Given the description of an element on the screen output the (x, y) to click on. 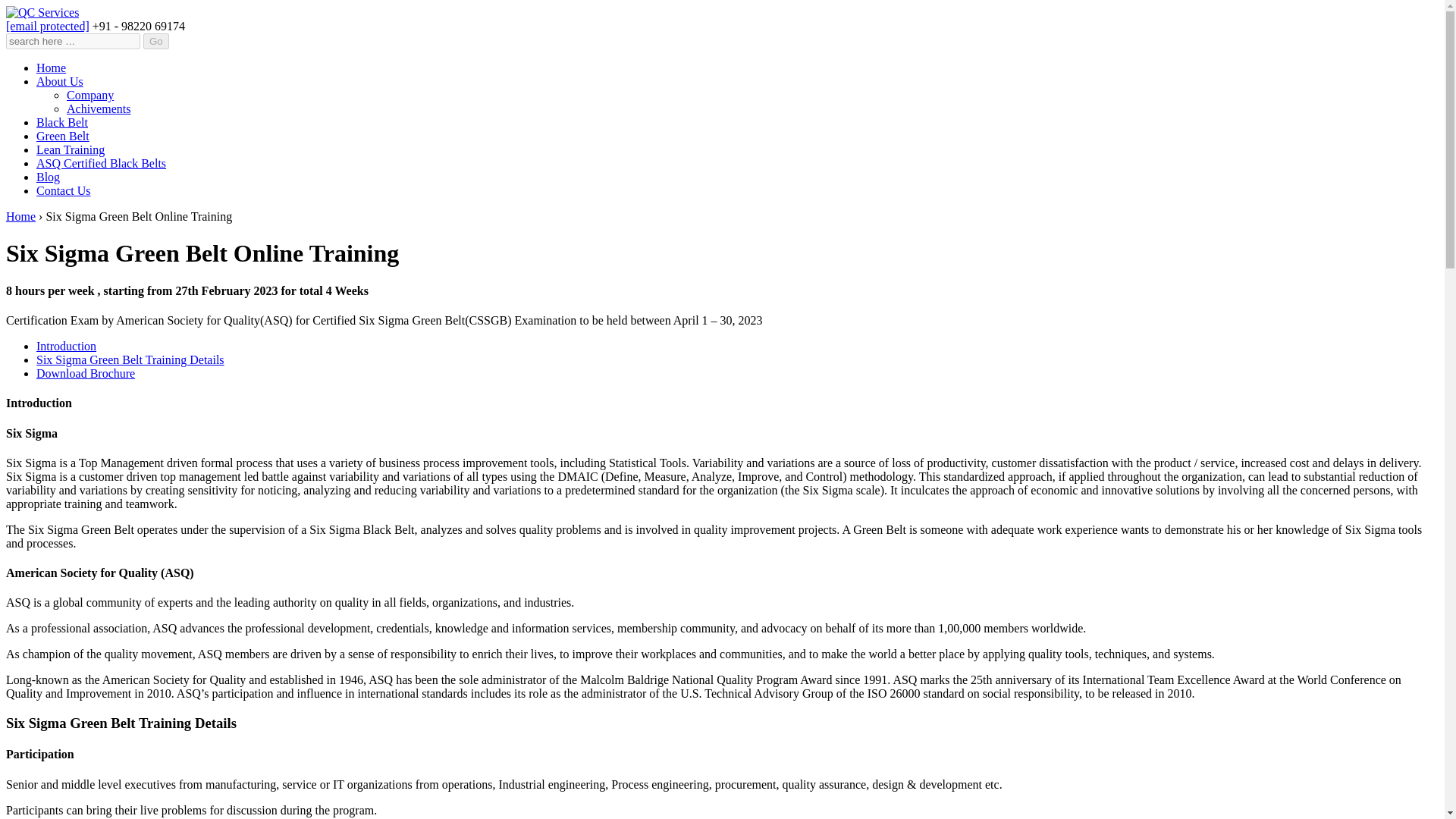
Go (155, 41)
Home (50, 67)
Lean Training (70, 149)
Contact Us (63, 190)
ASQ Certified Black Belts (100, 163)
Introduction (66, 345)
About Us (59, 81)
Six Sigma Green Belt Training Details (130, 359)
Blog (47, 176)
Green Belt (62, 135)
Achivements (98, 108)
Company (89, 94)
Home (19, 215)
Black Belt (61, 122)
Download Brochure (85, 373)
